Given the description of an element on the screen output the (x, y) to click on. 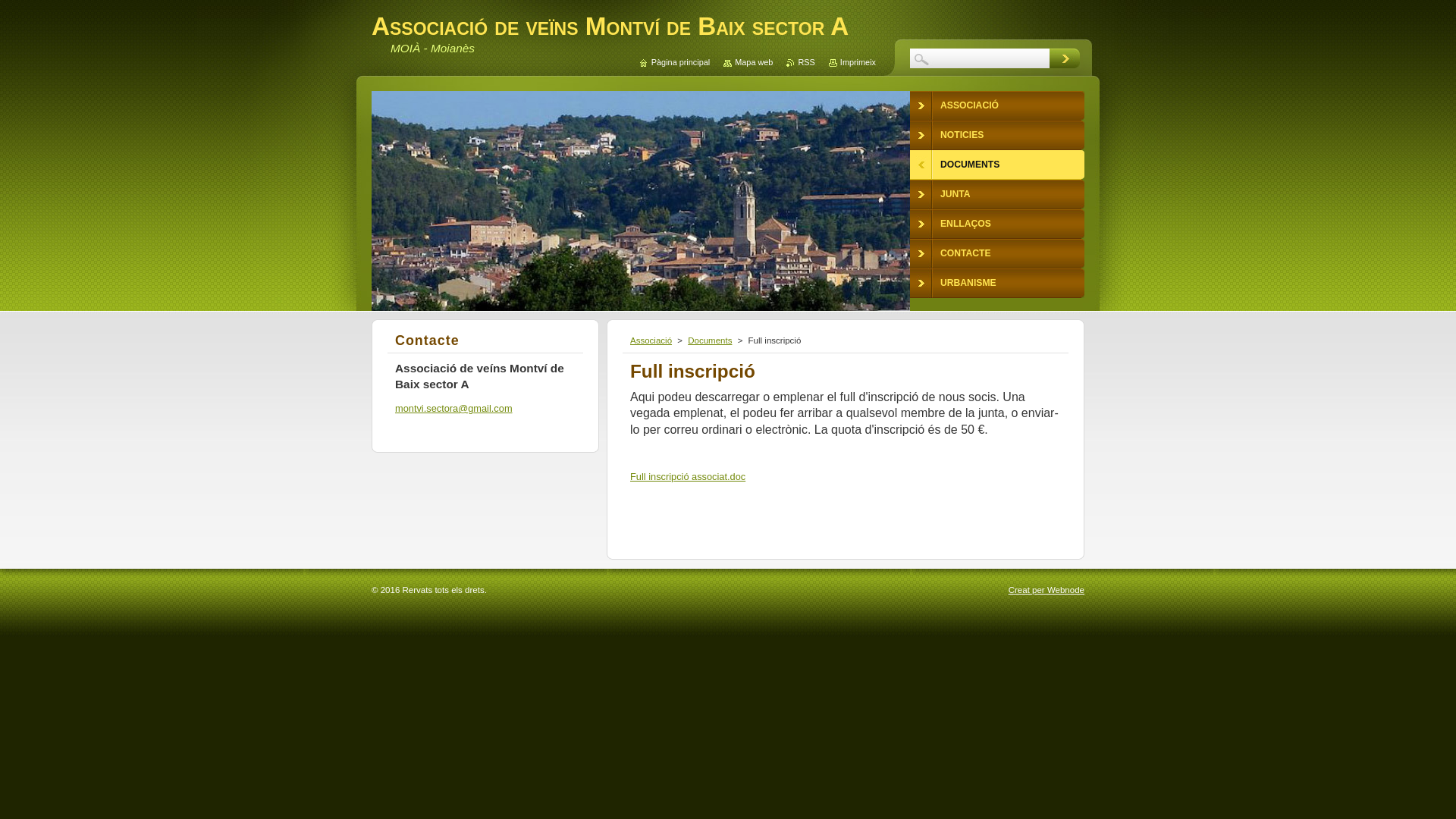
Creat per Webnode Element type: text (1046, 589)
Documents Element type: text (709, 340)
URBANISME Element type: text (997, 283)
JUNTA Element type: text (997, 194)
Cerca Element type: hover (1064, 58)
NOTICIES Element type: text (997, 135)
CONTACTE Element type: text (997, 253)
DOCUMENTS Element type: text (997, 164)
RSS Element type: text (800, 61)
montvi.sectora@gmail.com Element type: text (453, 408)
Mapa web Element type: text (747, 61)
Imprimeix Element type: text (851, 61)
